Given the description of an element on the screen output the (x, y) to click on. 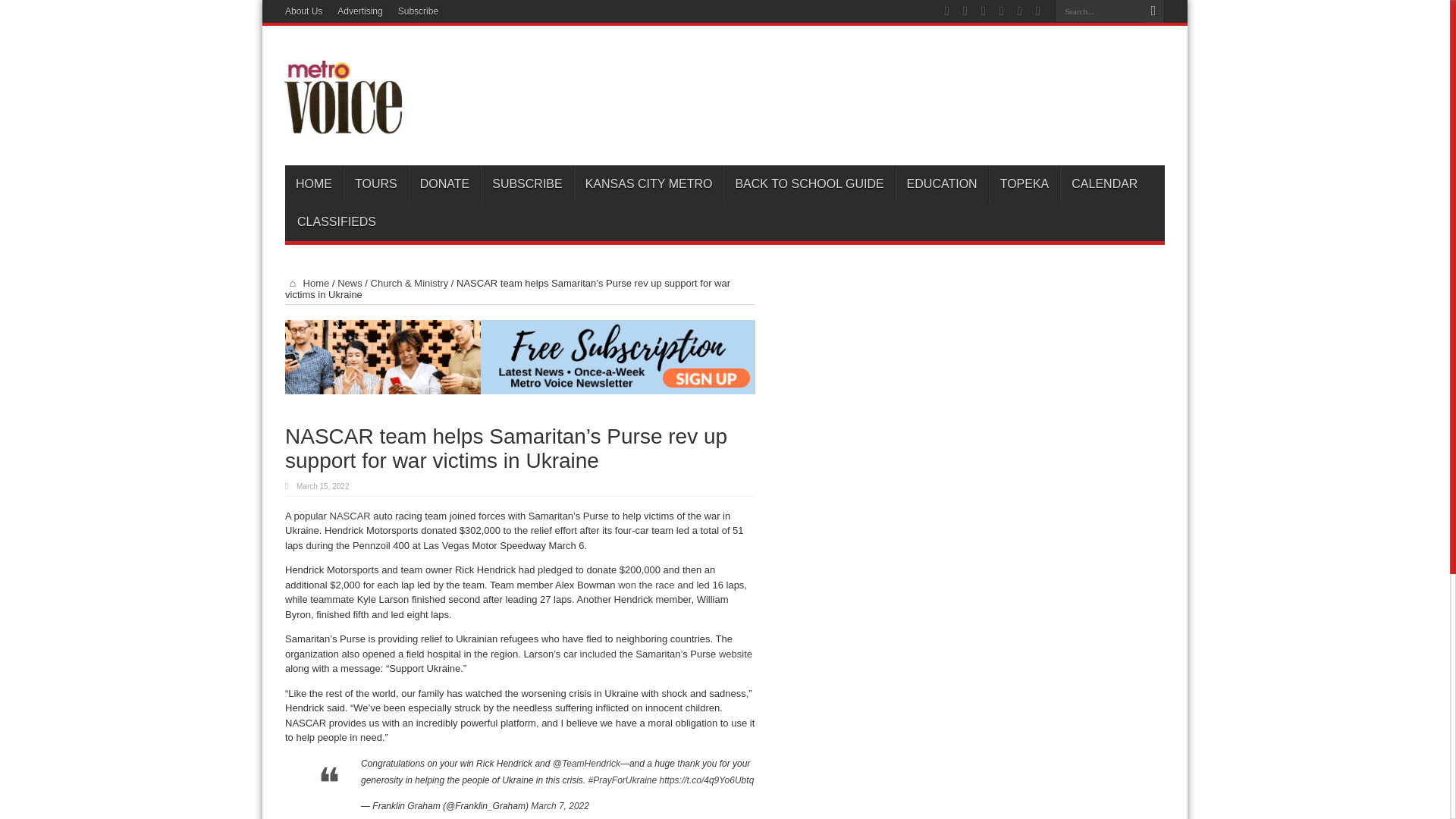
DONATE (444, 184)
BACK TO SCHOOL GUIDE (808, 184)
About Us (303, 11)
Subscribe (417, 11)
KANSAS CITY METRO (648, 184)
SUBSCRIBE (526, 184)
EDUCATION (941, 184)
Search (1152, 11)
TOURS (375, 184)
Advertising (359, 11)
Metro Voice News (342, 126)
Search... (1097, 11)
TOPEKA (1023, 184)
HOME (313, 184)
